Given the description of an element on the screen output the (x, y) to click on. 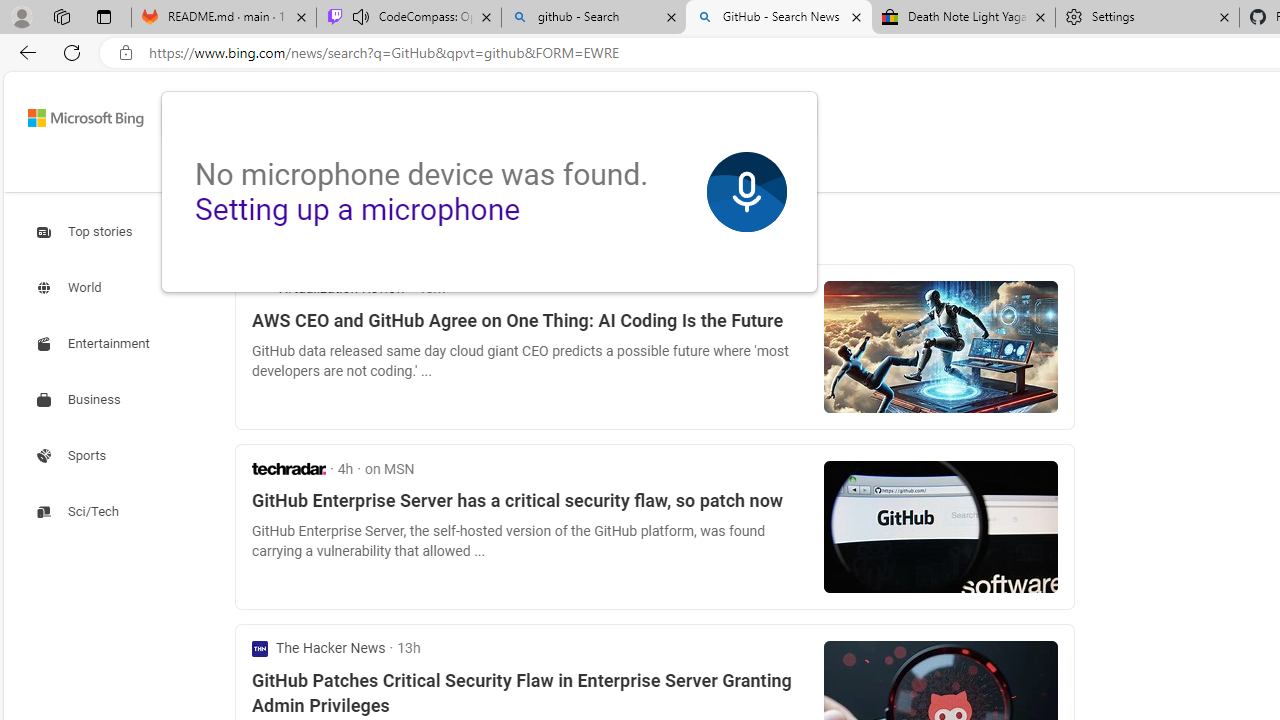
IMAGES (394, 173)
Search news about World (71, 288)
NEWS (618, 170)
MORE (696, 173)
IMAGES (394, 170)
Any time (283, 232)
MAPS (546, 173)
Mute tab (360, 16)
Clear text (715, 117)
COPILOT (311, 173)
SEARCH (219, 170)
VIDEOS (473, 173)
MAPS (546, 170)
Search news about Business (80, 400)
